Given the description of an element on the screen output the (x, y) to click on. 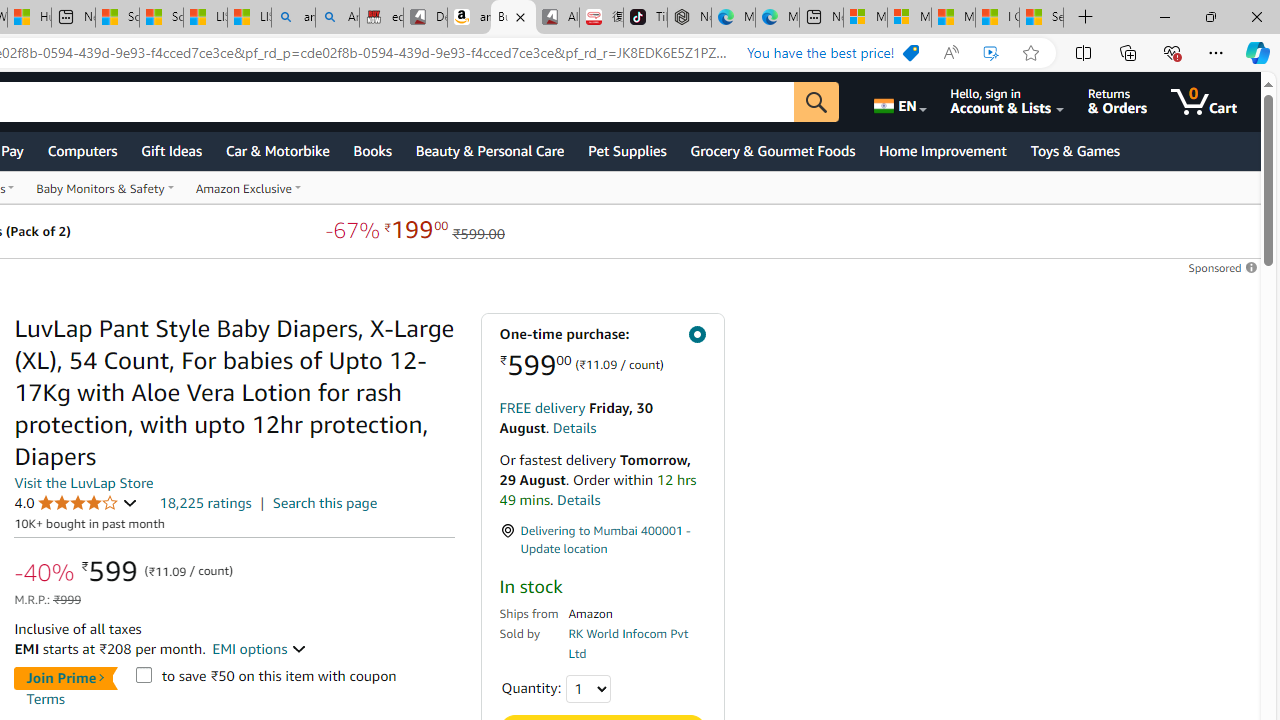
Search this page (324, 502)
I Gained 20 Pounds of Muscle in 30 Days! | Watch (996, 17)
Details (578, 500)
Enhance video (991, 53)
amazon.in/dp/B0CX59H5W7/?tag=gsmcom05-21 (469, 17)
Gift Ideas (171, 150)
Beauty & Personal Care (490, 150)
Visit the LuvLap Store (83, 482)
